Given the description of an element on the screen output the (x, y) to click on. 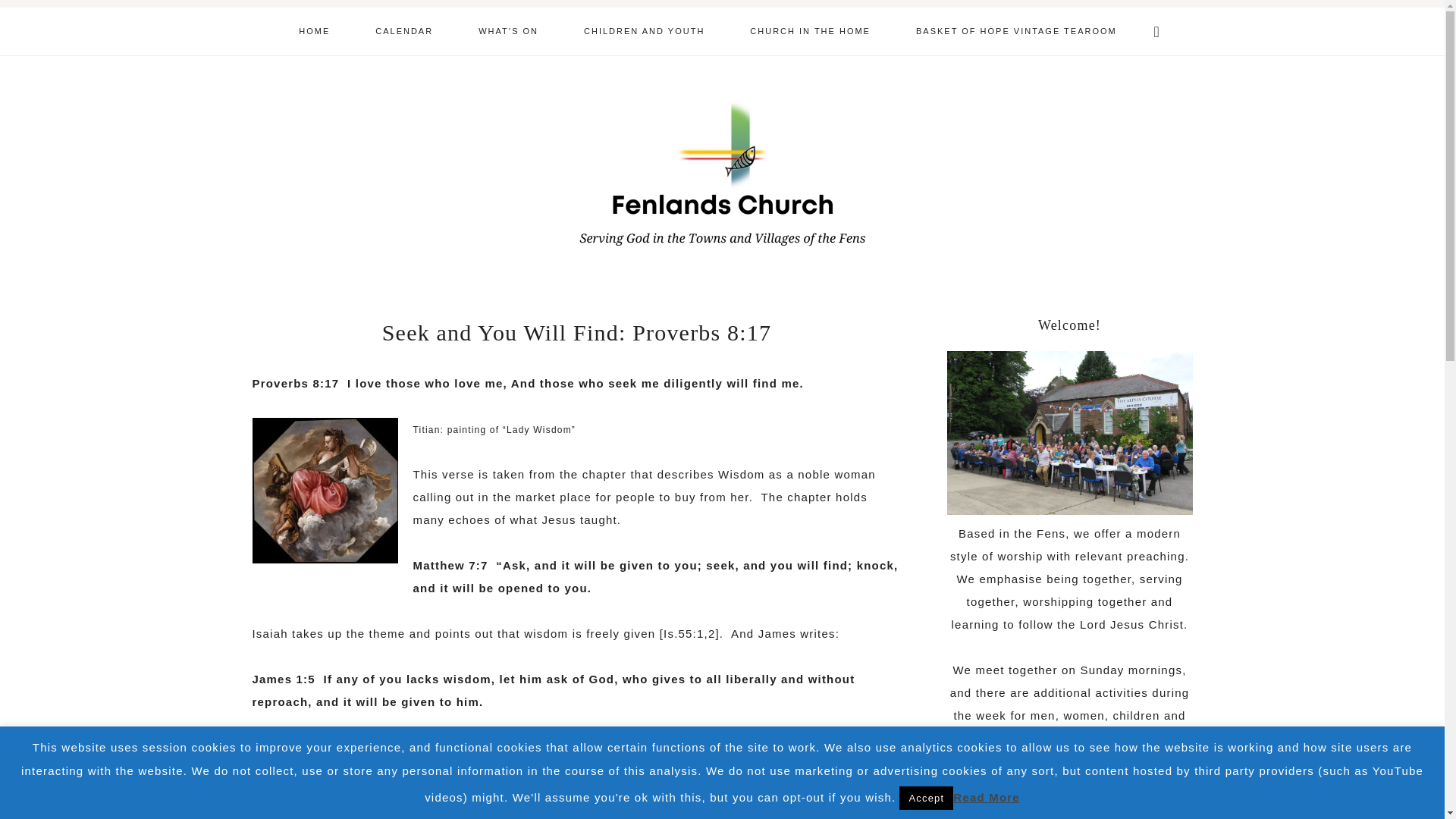
BASKET OF HOPE VINTAGE TEAROOM (1016, 31)
CHILDREN AND YOUTH (643, 31)
CALENDAR (403, 31)
HOME (314, 31)
Accept (926, 797)
CHURCH IN THE HOME (809, 31)
Read More (986, 797)
